Given the description of an element on the screen output the (x, y) to click on. 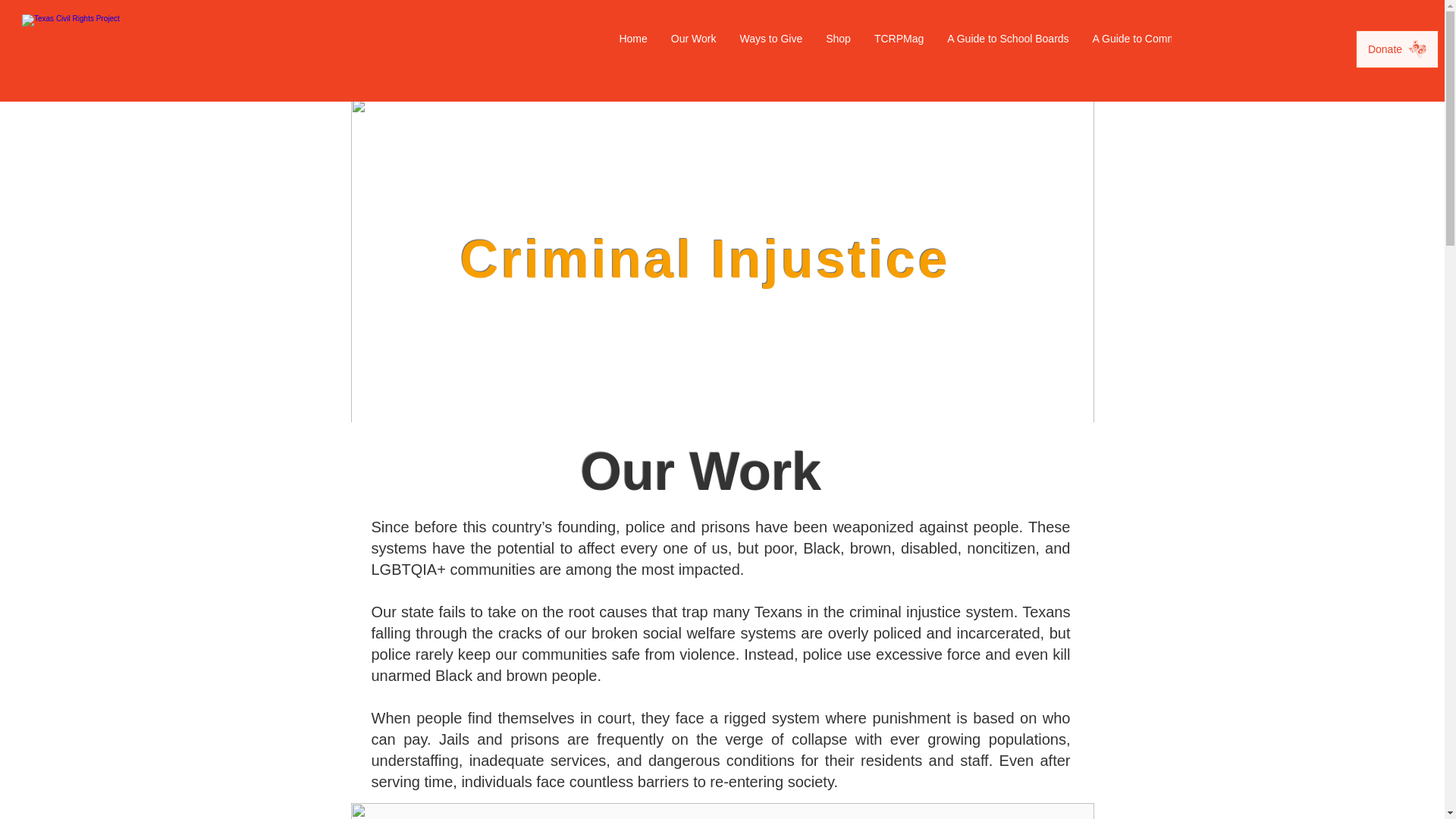
A Guide to Commissioners Court (1169, 50)
Texas Civil Rights Project (110, 51)
Home (391, 119)
Our Work (693, 50)
Donate (1396, 48)
Home (632, 50)
TCRPMag (897, 50)
Shop (837, 50)
Our Work (491, 119)
A Guide to School Boards (1007, 50)
Ways to Give (769, 50)
